Given the description of an element on the screen output the (x, y) to click on. 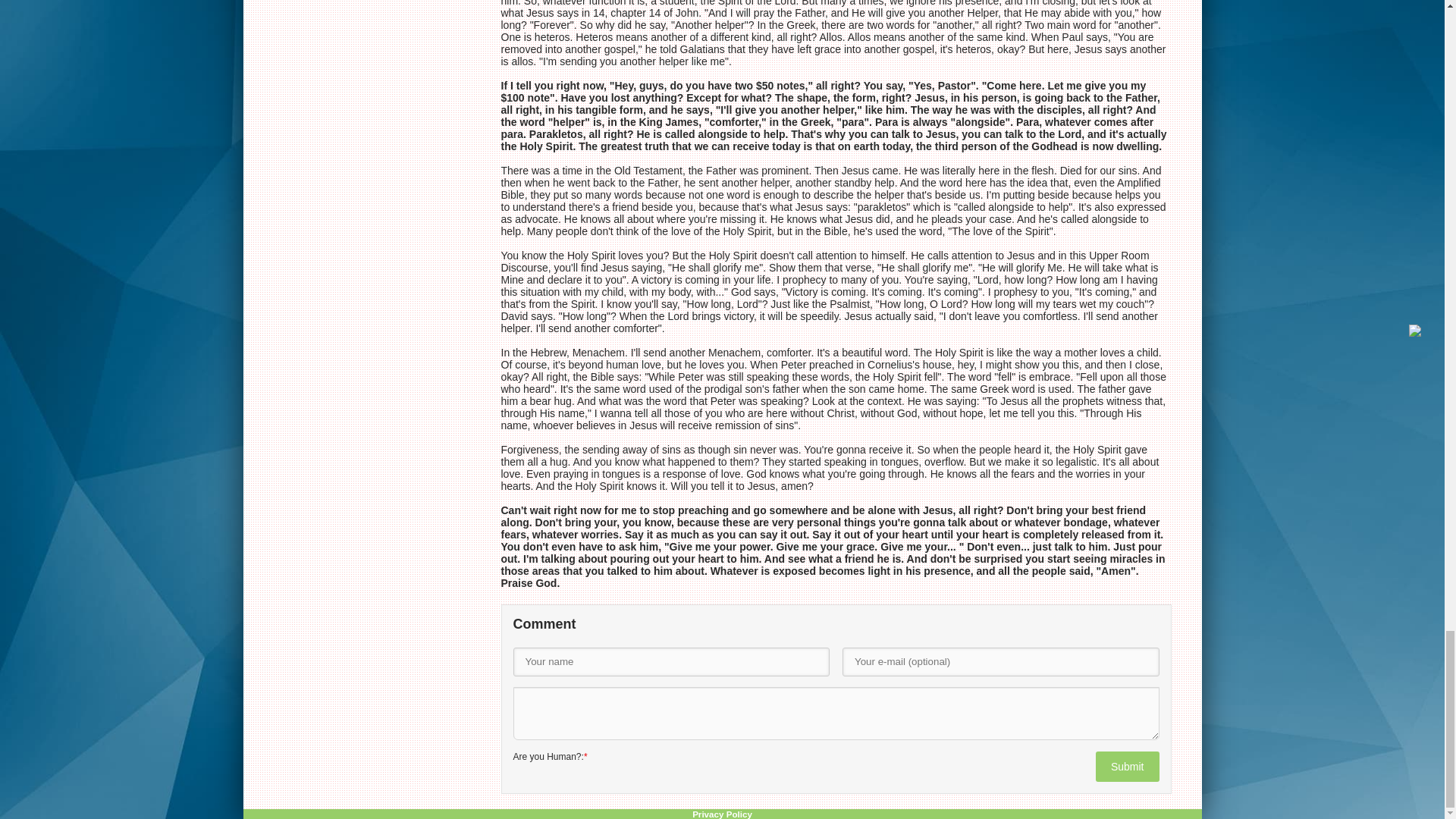
Submit (1127, 766)
